Given the description of an element on the screen output the (x, y) to click on. 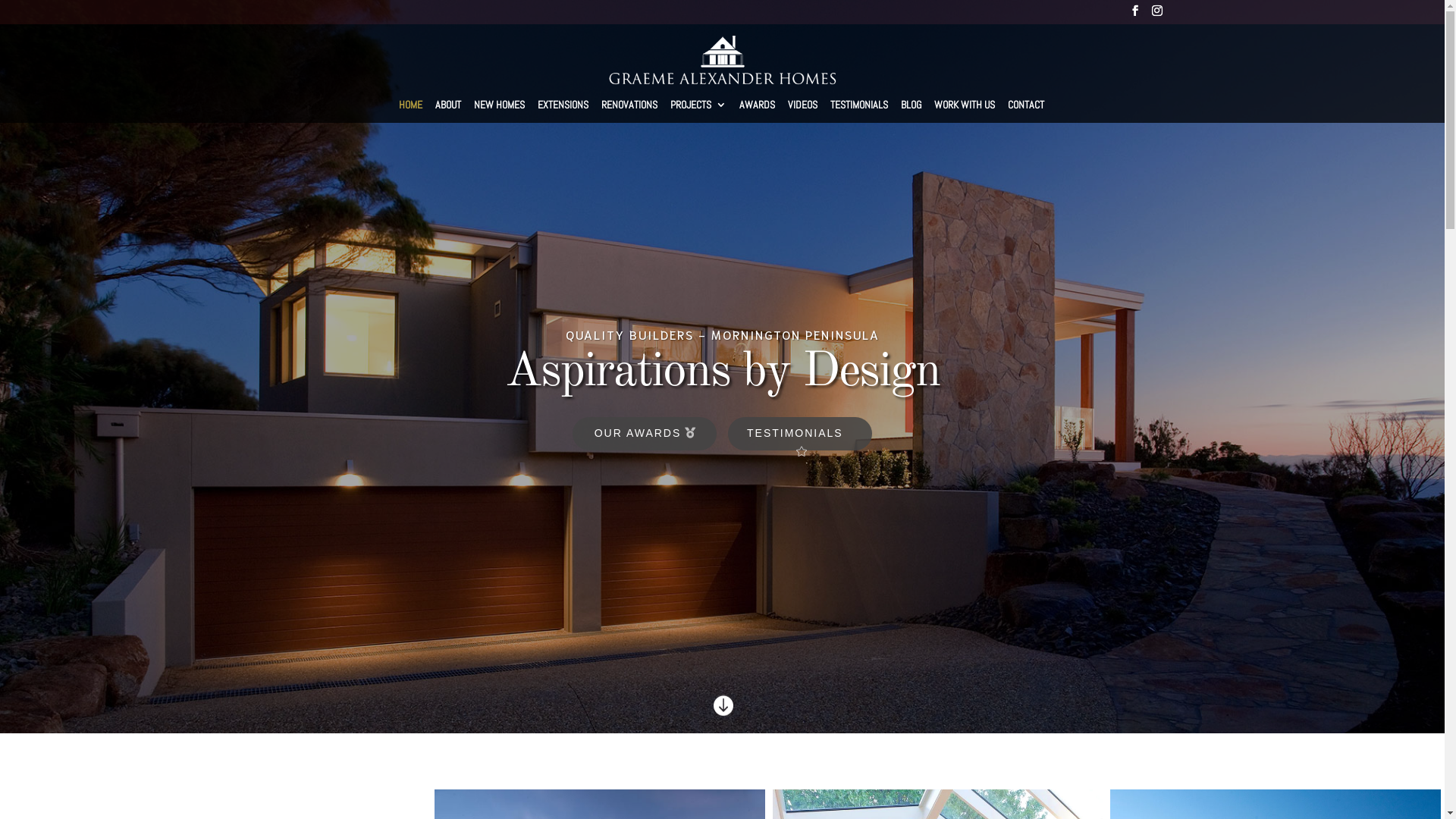
TESTIMONIALS Element type: text (859, 110)
WORK WITH US Element type: text (964, 110)
TESTIMONIALS Element type: text (800, 433)
NEW HOMES Element type: text (498, 110)
BLOG Element type: text (910, 110)
CONTACT Element type: text (1025, 110)
ABOUT Element type: text (448, 110)
PROJECTS Element type: text (698, 110)
VIDEOS Element type: text (802, 110)
EXTENSIONS Element type: text (562, 110)
HOME Element type: text (410, 110)
OUR AWARDS Element type: text (644, 433)
AWARDS Element type: text (757, 110)
RENOVATIONS Element type: text (629, 110)
